Given the description of an element on the screen output the (x, y) to click on. 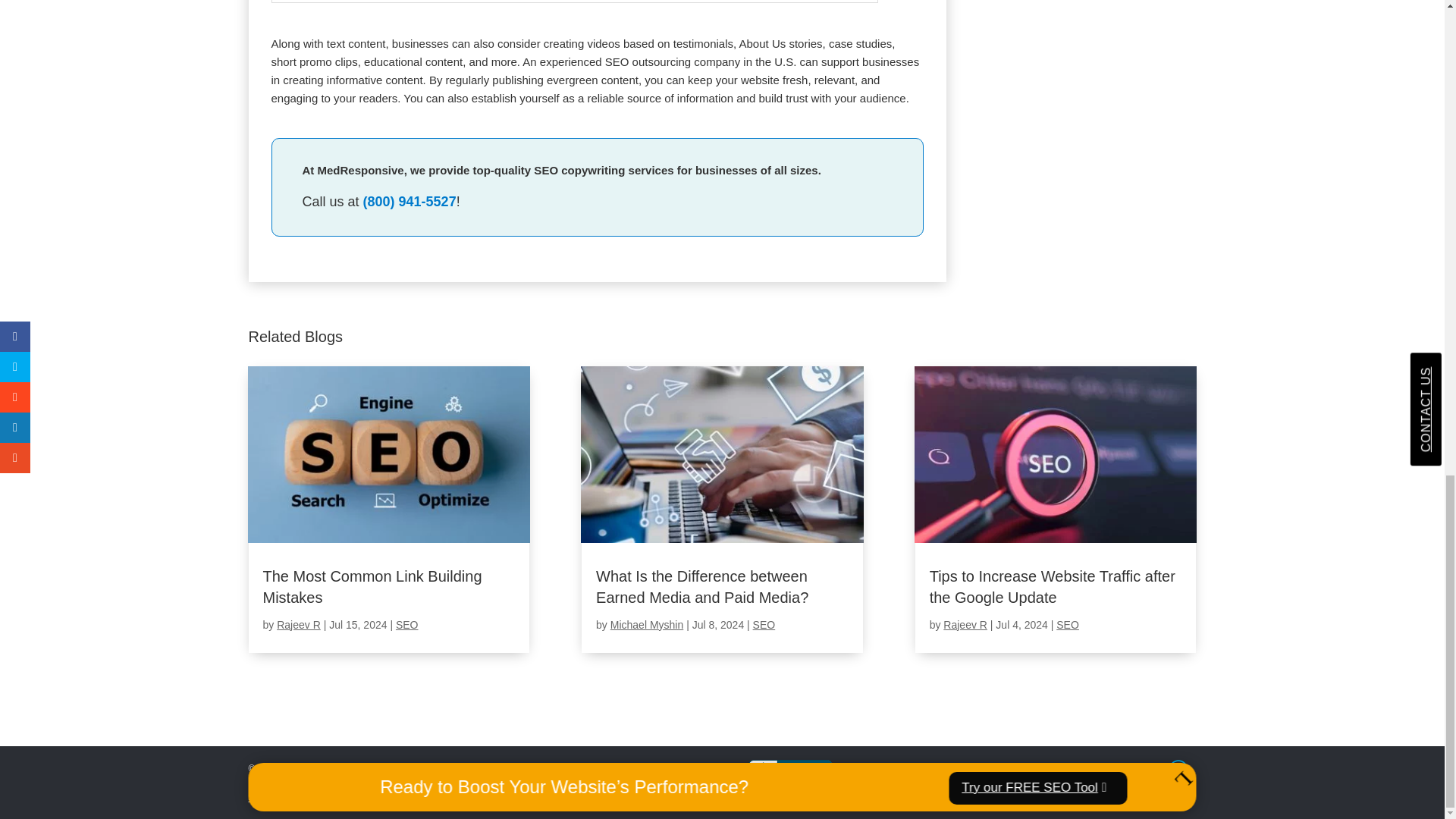
Posts by Rajeev R (298, 624)
Posts by Rajeev R (965, 624)
Posts by Michael Myshin (646, 624)
